Given the description of an element on the screen output the (x, y) to click on. 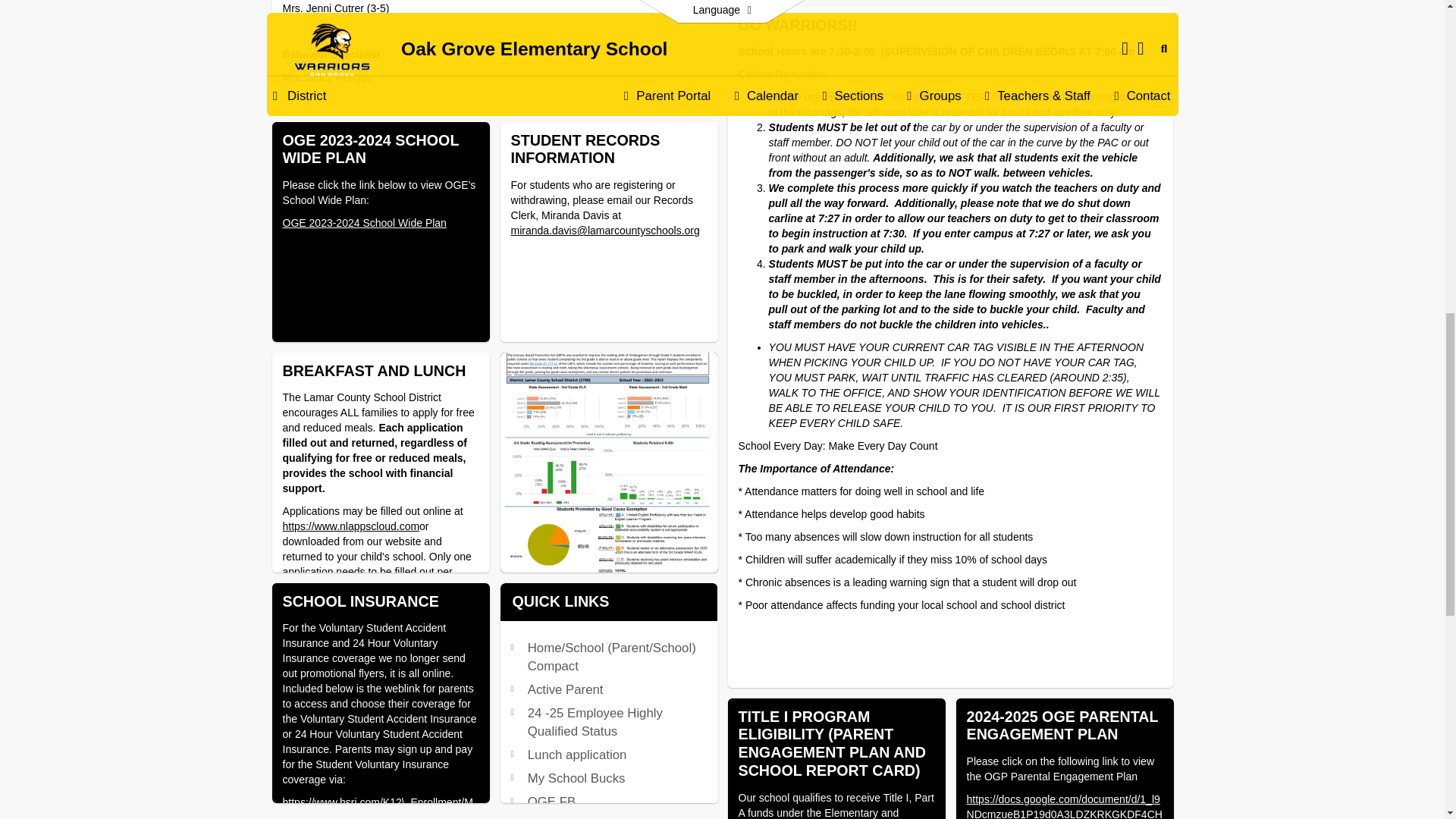
. (836, 35)
